Given the description of an element on the screen output the (x, y) to click on. 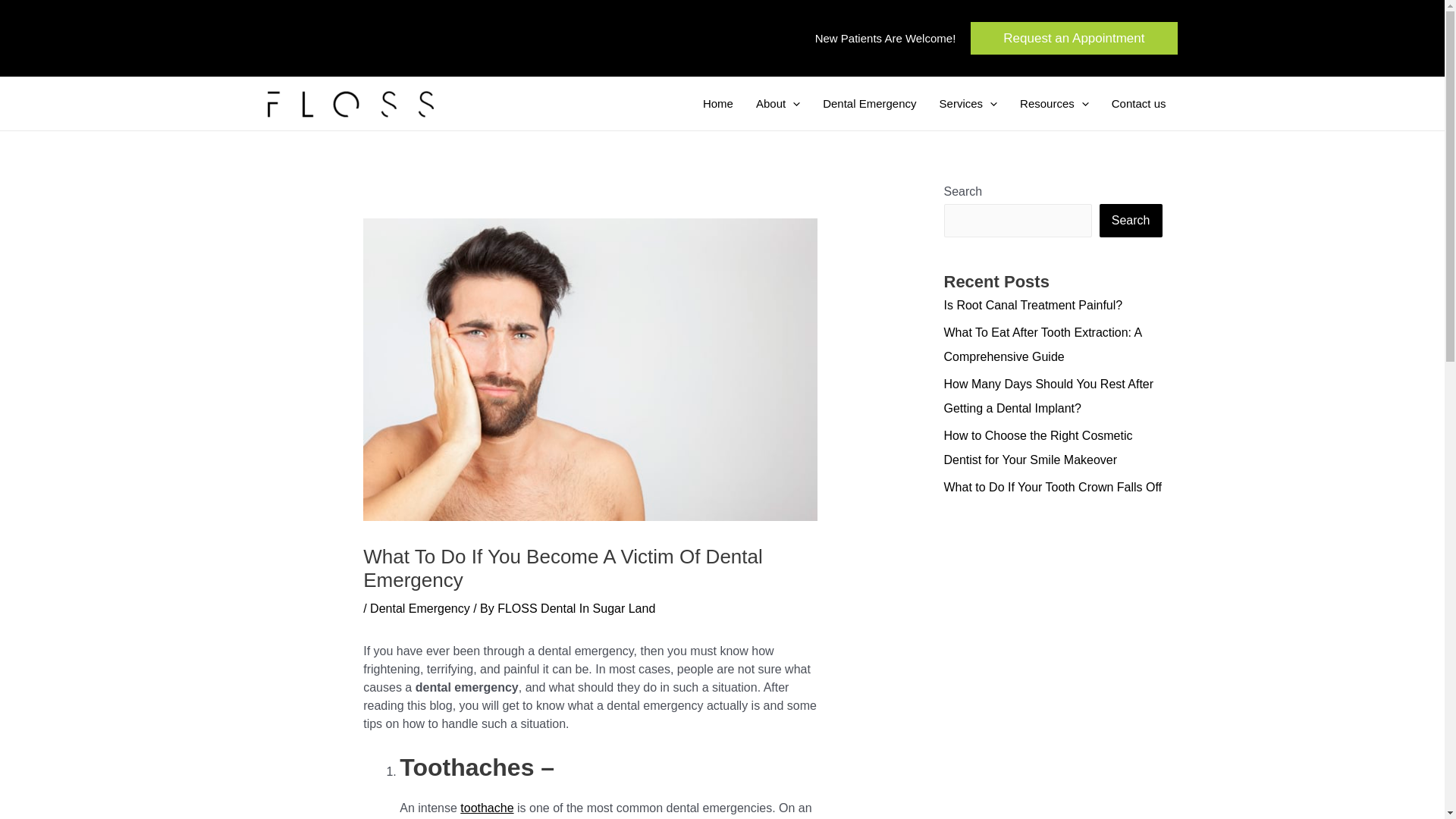
About (777, 103)
Request an Appointment (1073, 38)
Services (968, 103)
Contact us (1138, 103)
Home (717, 103)
View all posts by FLOSS Dental In Sugar Land (576, 608)
Dental Emergency (868, 103)
Resources (1054, 103)
